Given the description of an element on the screen output the (x, y) to click on. 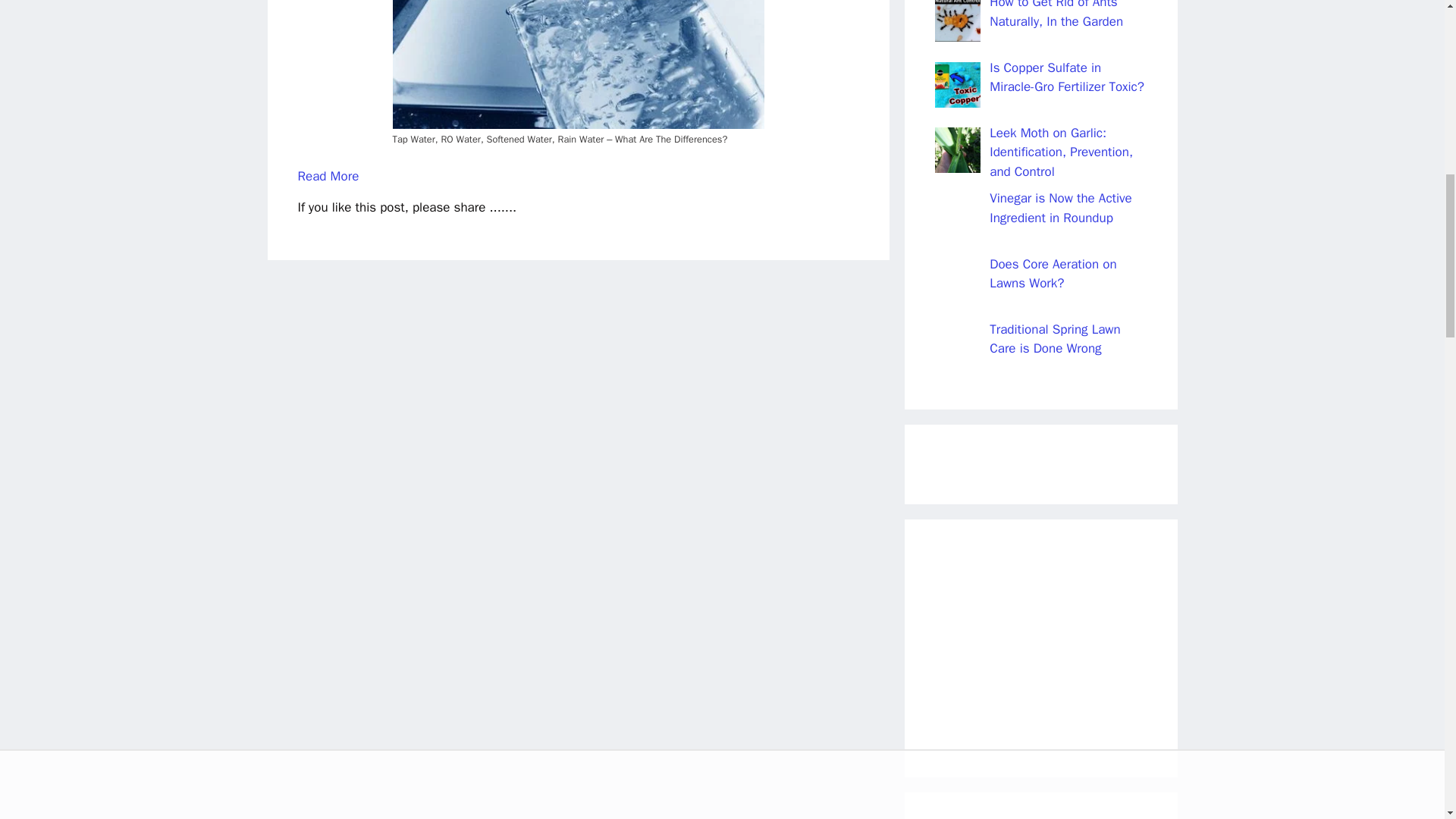
Garden Myths by Robert Pavlis (1040, 647)
